Given the description of an element on the screen output the (x, y) to click on. 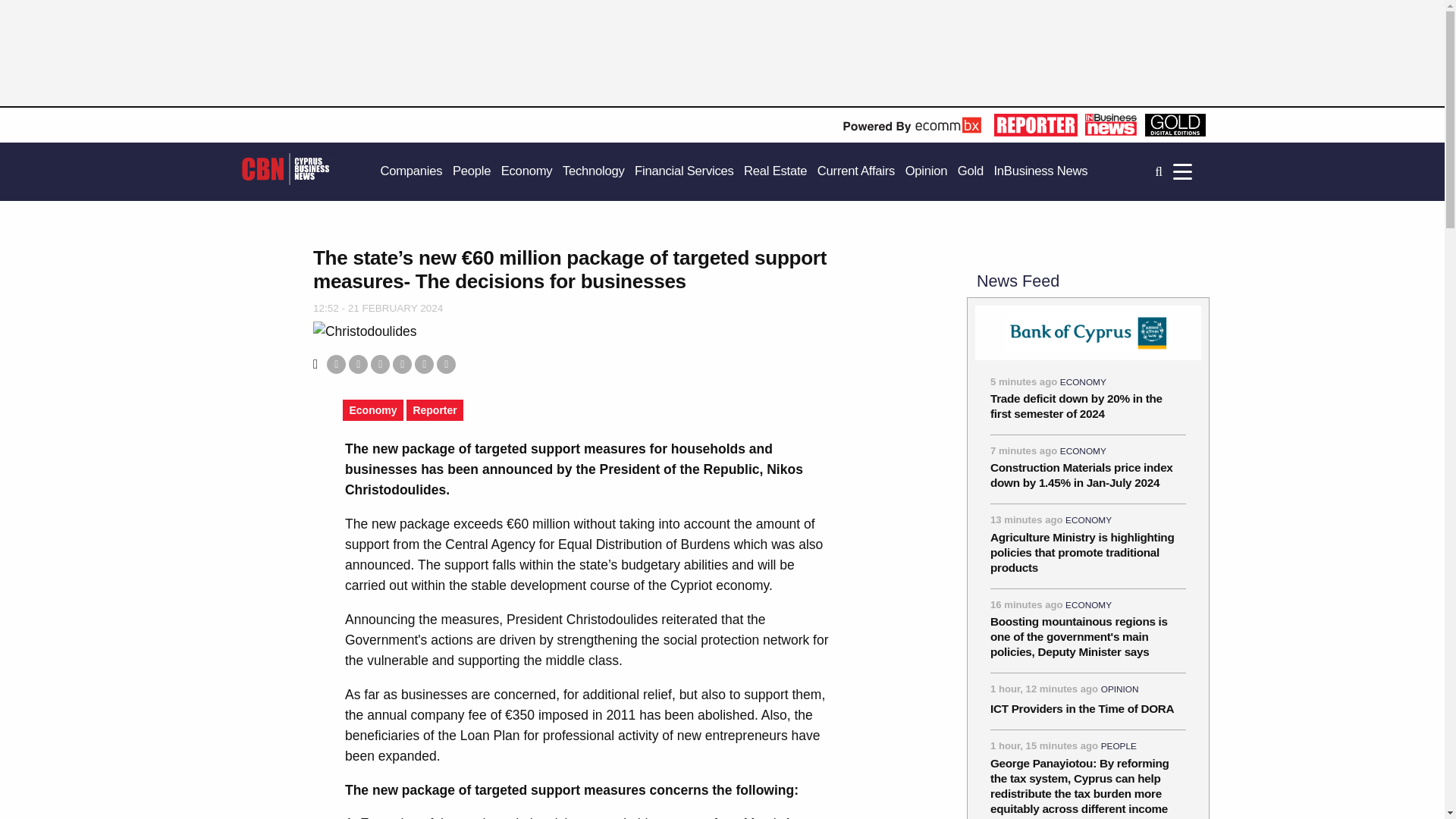
People (471, 171)
InBusiness News (1040, 171)
Technology (593, 171)
Real Estate (775, 171)
Opinion (926, 171)
Current Affairs (855, 171)
Gold (970, 171)
Christodoulides (364, 331)
Financial Services (684, 171)
Economy (526, 171)
